Given the description of an element on the screen output the (x, y) to click on. 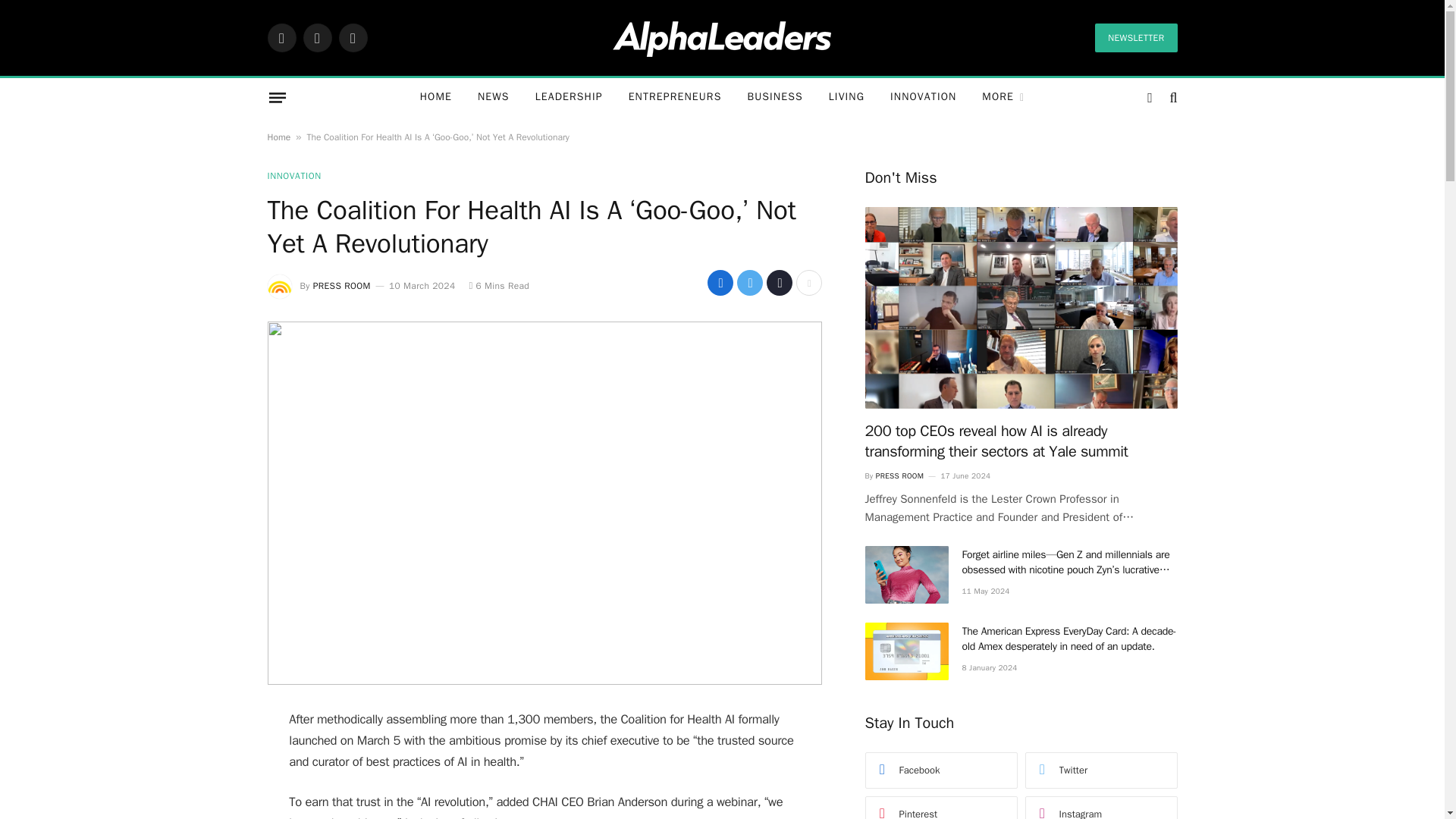
Switch to Dark Design - easier on eyes. (1149, 97)
HOME (435, 97)
Instagram (351, 37)
BUSINESS (774, 97)
INNOVATION (923, 97)
Posts by Press Room (342, 285)
NEWSLETTER (1135, 37)
LEADERSHIP (568, 97)
Facebook (280, 37)
NEWS (493, 97)
Alpha Leaders (721, 37)
Share on Facebook (720, 282)
MORE (1002, 97)
ENTREPRENEURS (675, 97)
LIVING (846, 97)
